Given the description of an element on the screen output the (x, y) to click on. 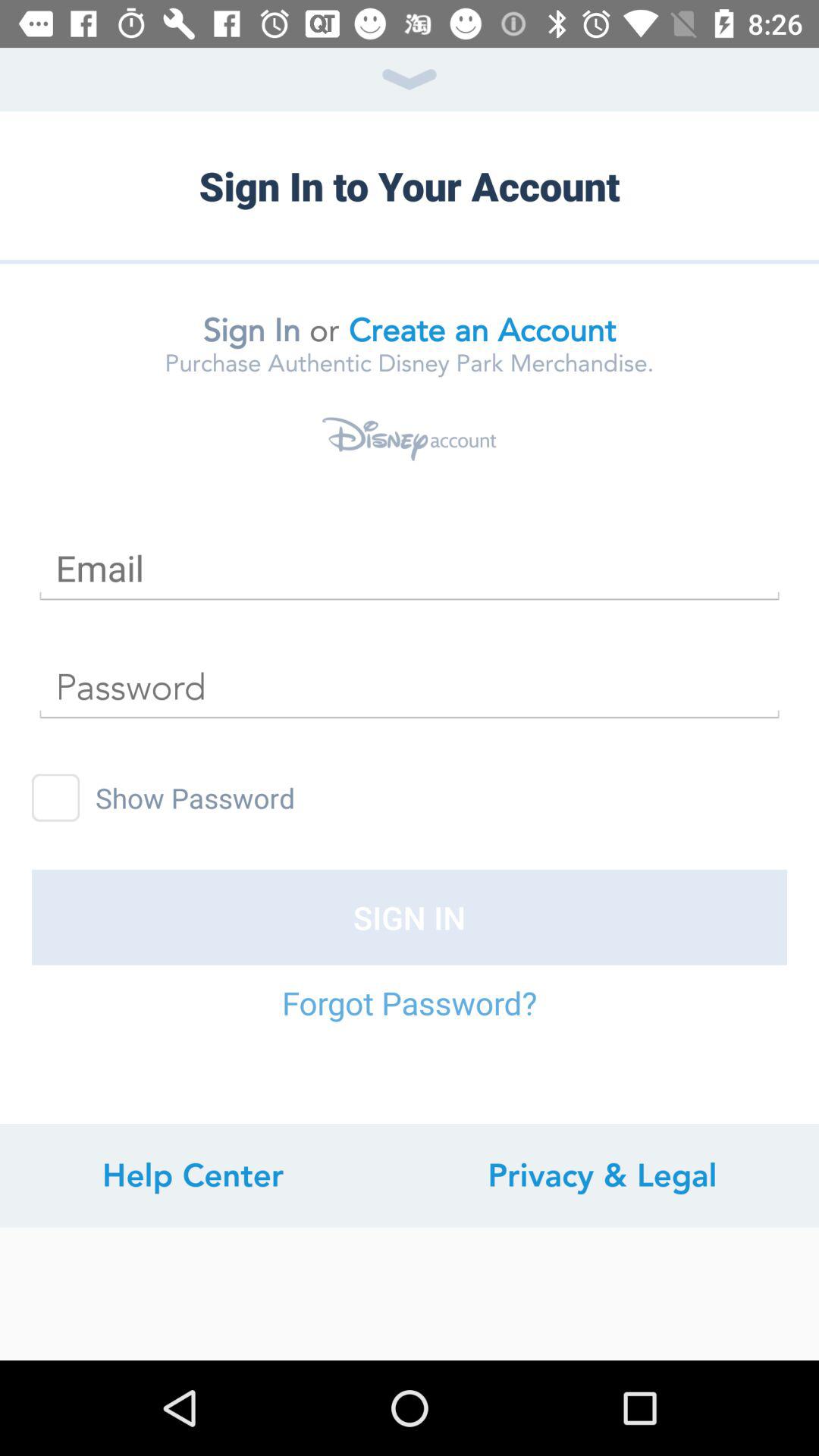
press privacy & legal at the bottom right corner (602, 1175)
